Given the description of an element on the screen output the (x, y) to click on. 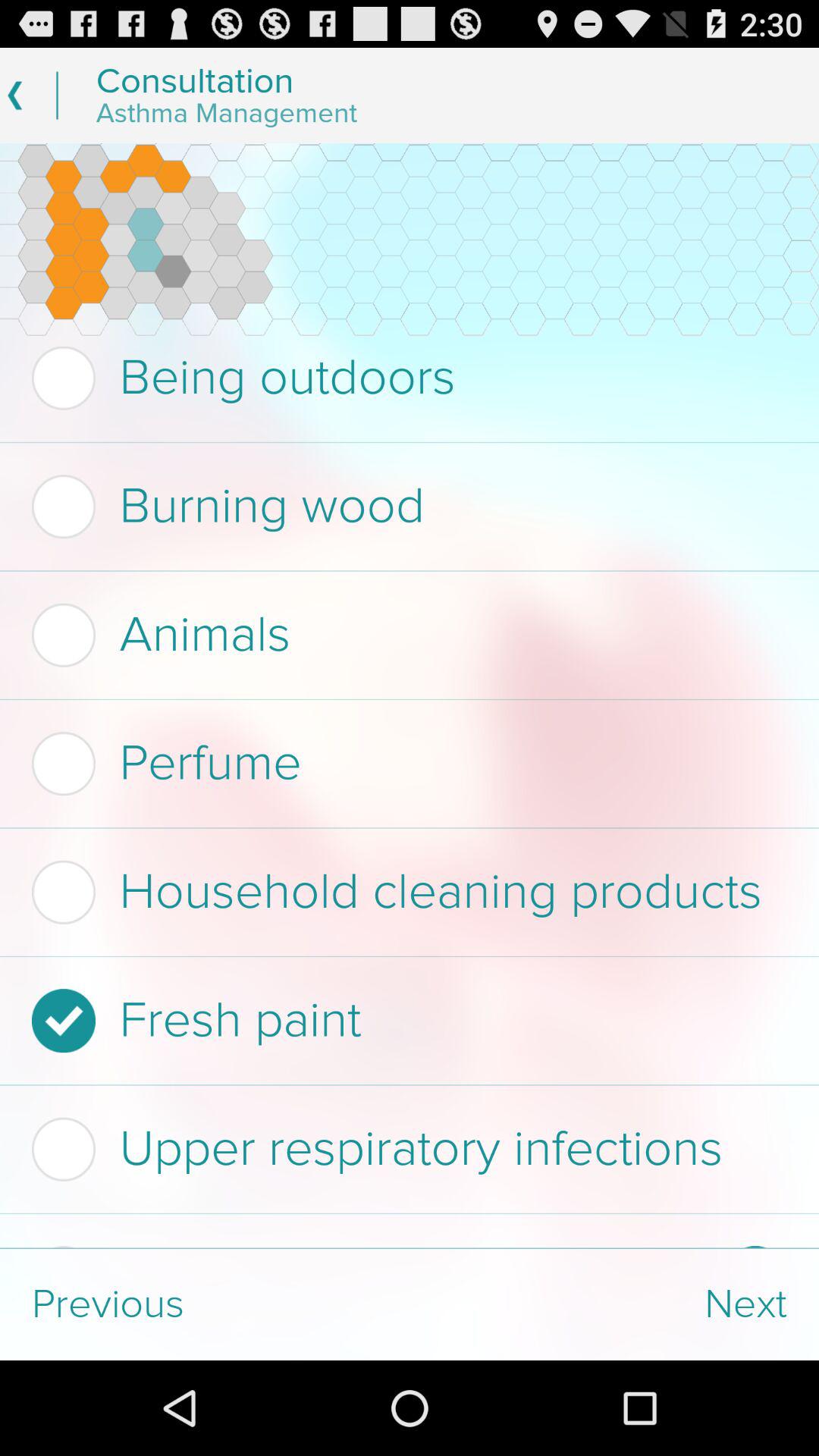
launch the sulfites in food (373, 1246)
